Given the description of an element on the screen output the (x, y) to click on. 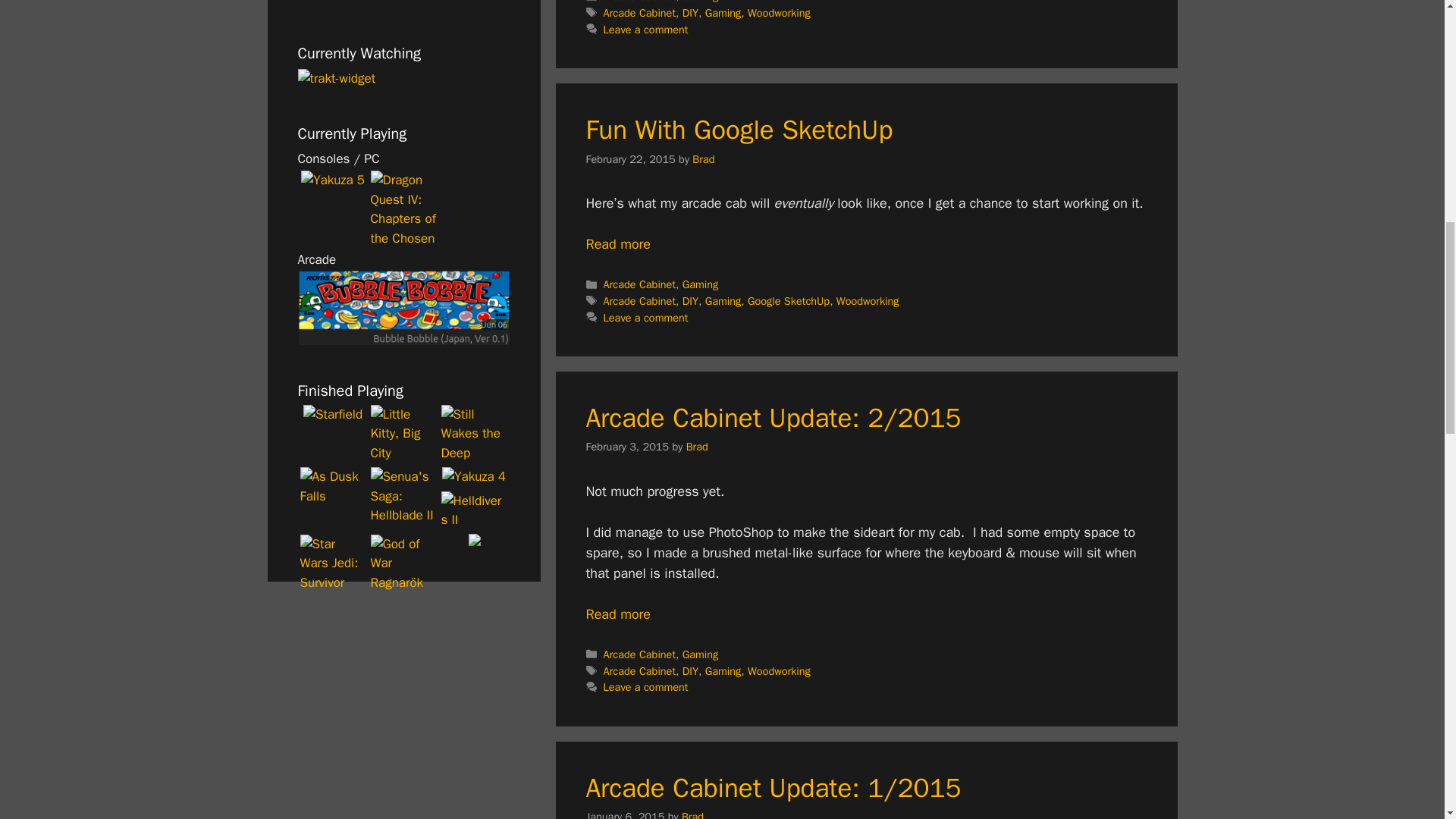
Read more (617, 614)
Leave a comment (646, 29)
View all posts by Brad (692, 814)
Arcade Cabinet (639, 671)
Gaming (700, 284)
View all posts by Brad (696, 446)
Gaming (722, 300)
Arcade Cabinet (639, 300)
Brad (703, 159)
View all posts by Brad (703, 159)
Gaming (700, 1)
Read more (617, 243)
Gaming (722, 12)
Google SketchUp (788, 300)
DIY (690, 300)
